Given the description of an element on the screen output the (x, y) to click on. 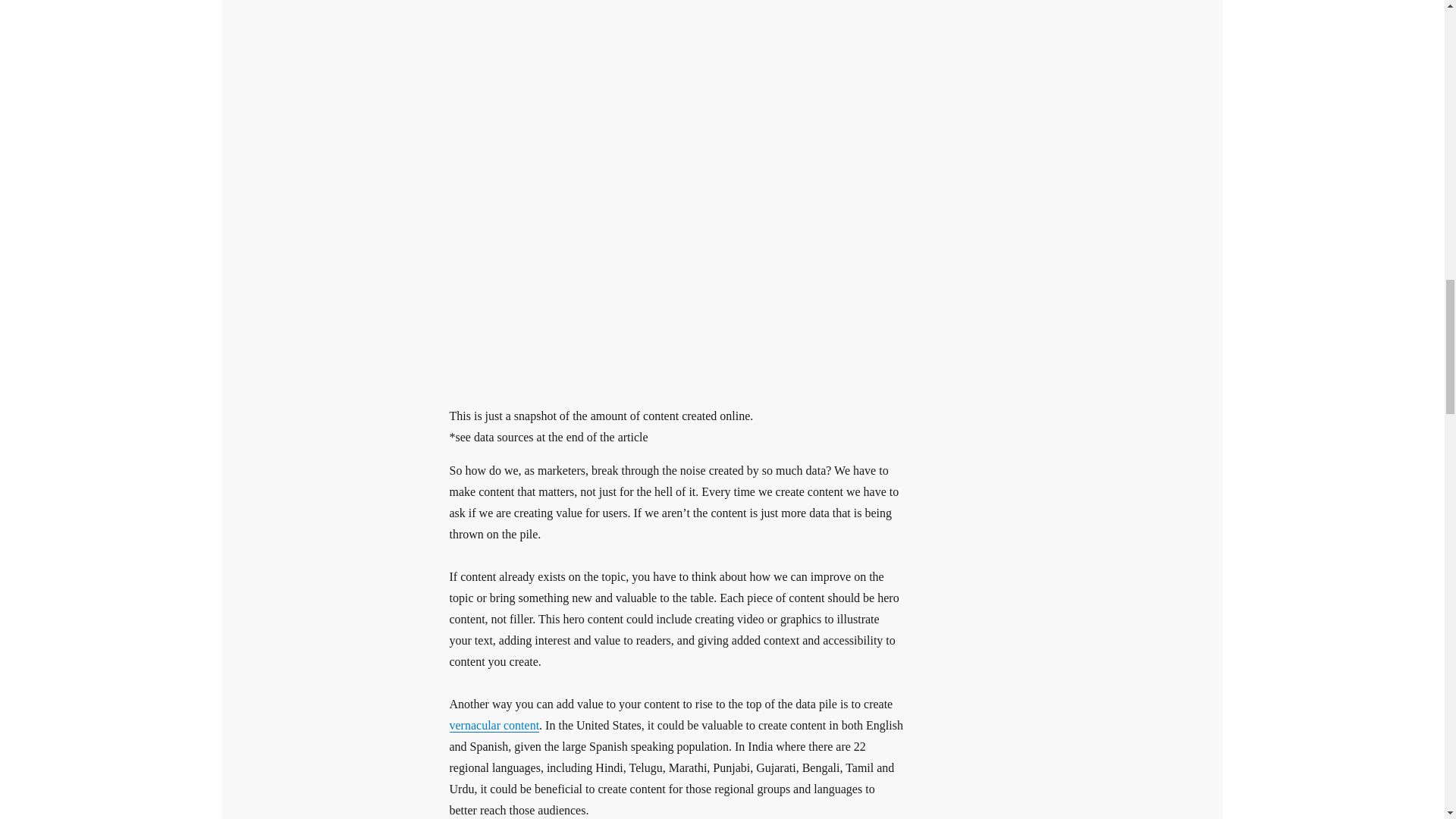
vernacular content (493, 725)
